Given the description of an element on the screen output the (x, y) to click on. 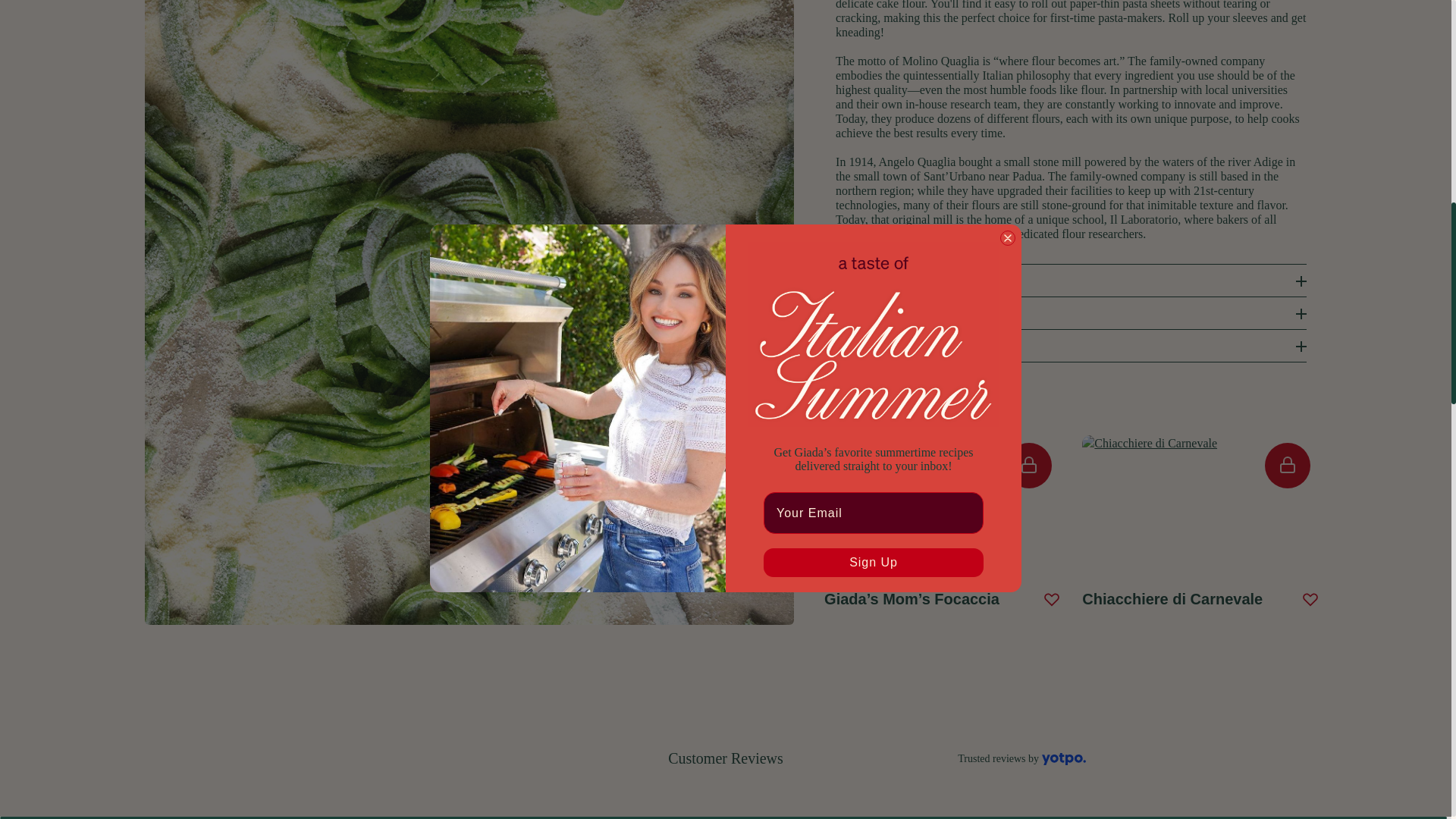
Chiacchiere di Carnevale (1189, 443)
